Given the description of an element on the screen output the (x, y) to click on. 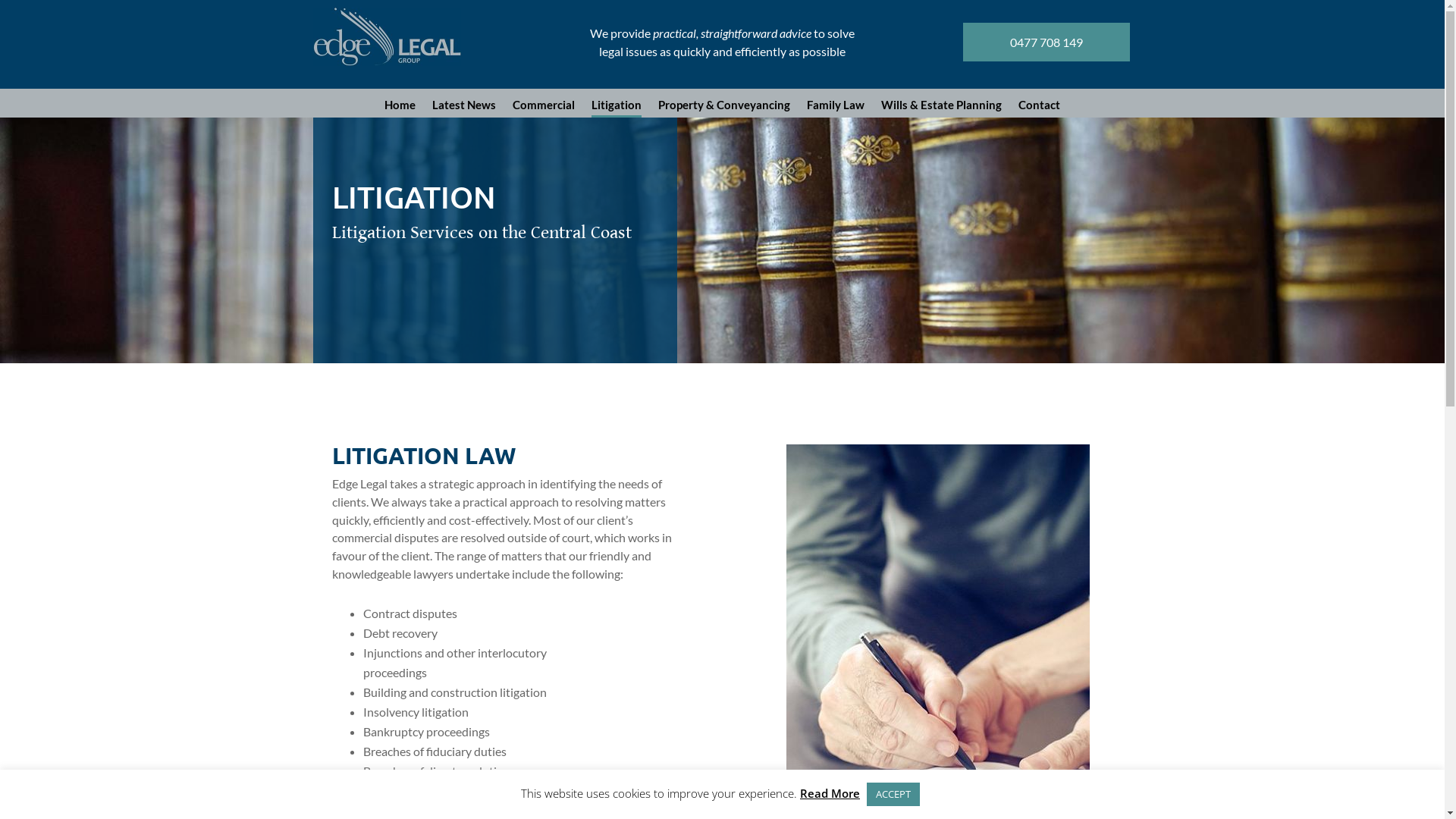
0477 708 149 Element type: text (1046, 41)
ACCEPT Element type: text (892, 794)
Latest News Element type: text (463, 115)
Home Element type: text (399, 115)
Family Law Element type: text (835, 115)
Contact Element type: text (1039, 115)
Commercial Element type: text (543, 115)
Litigation Element type: text (616, 115)
Read More Element type: text (829, 793)
Wills & Estate Planning Element type: text (941, 115)
Property & Conveyancing Element type: text (724, 115)
